Given the description of an element on the screen output the (x, y) to click on. 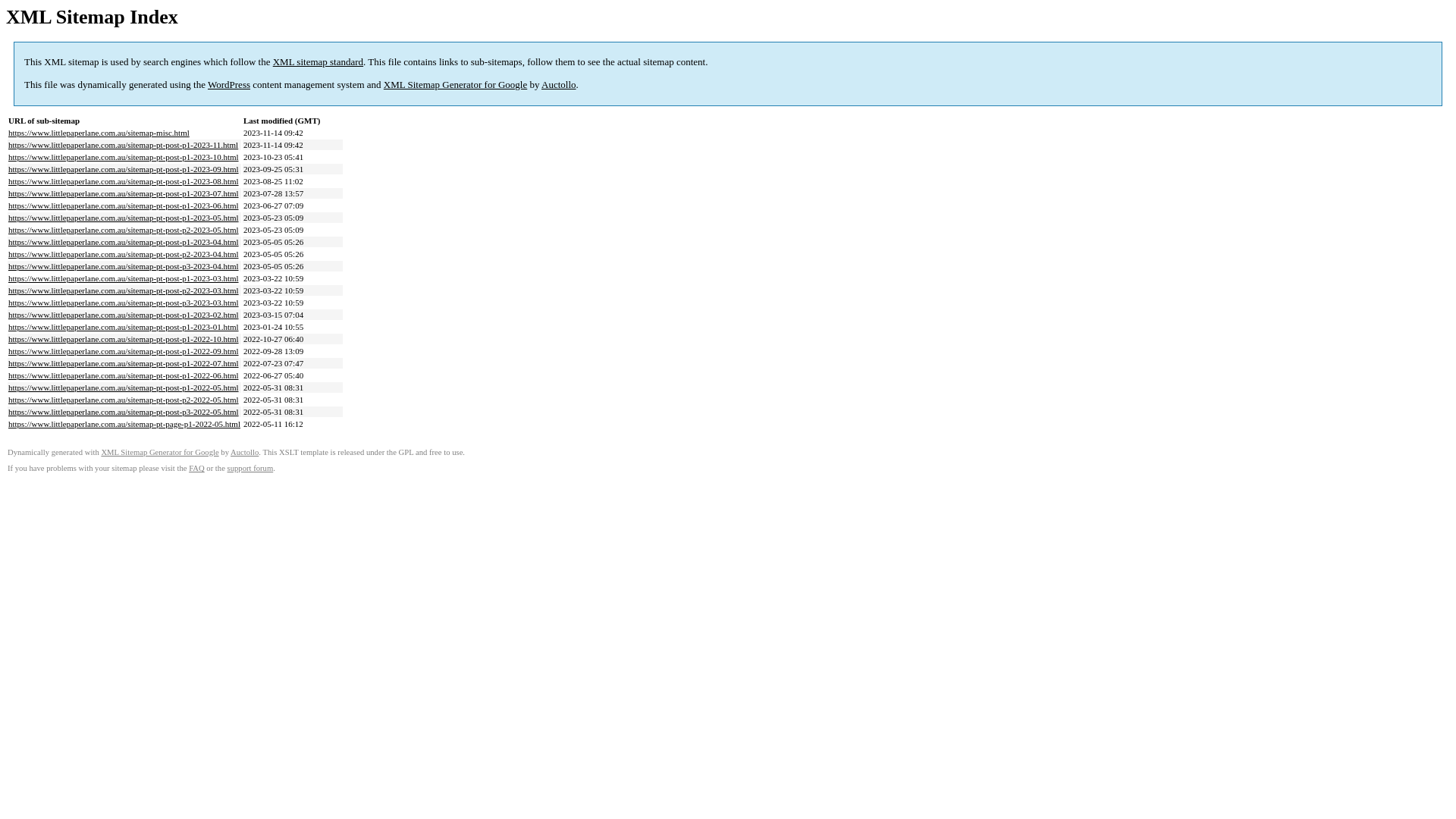
https://www.littlepaperlane.com.au/sitemap-misc.html Element type: text (98, 132)
Auctollo Element type: text (558, 84)
XML Sitemap Generator for Google Element type: text (455, 84)
XML sitemap standard Element type: text (318, 61)
Auctollo Element type: text (244, 452)
XML Sitemap Generator for Google Element type: text (159, 452)
support forum Element type: text (250, 468)
FAQ Element type: text (196, 468)
WordPress Element type: text (228, 84)
